Given the description of an element on the screen output the (x, y) to click on. 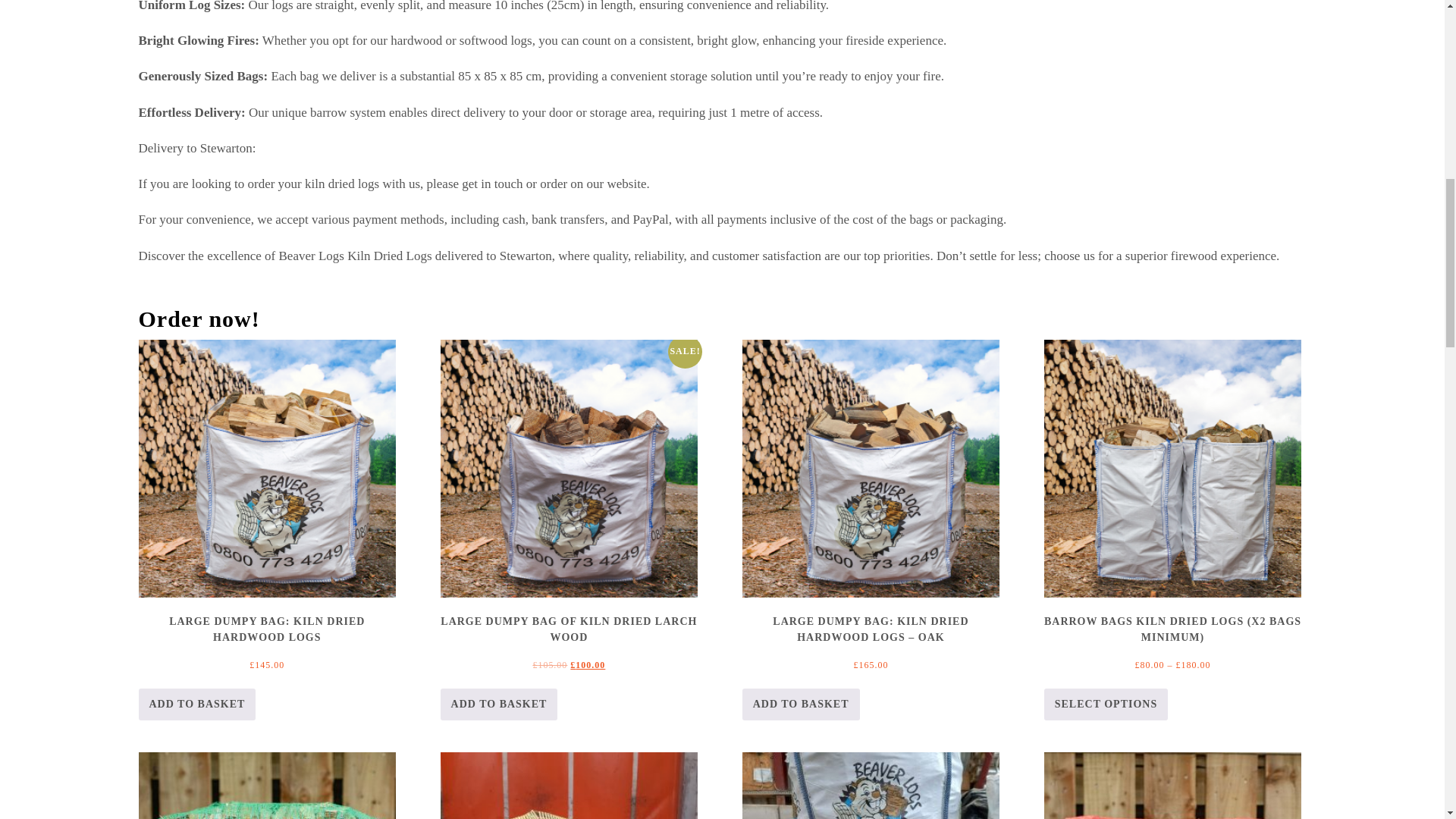
ADD TO BASKET (499, 704)
ADD TO BASKET (197, 704)
ADD TO BASKET (801, 704)
